Given the description of an element on the screen output the (x, y) to click on. 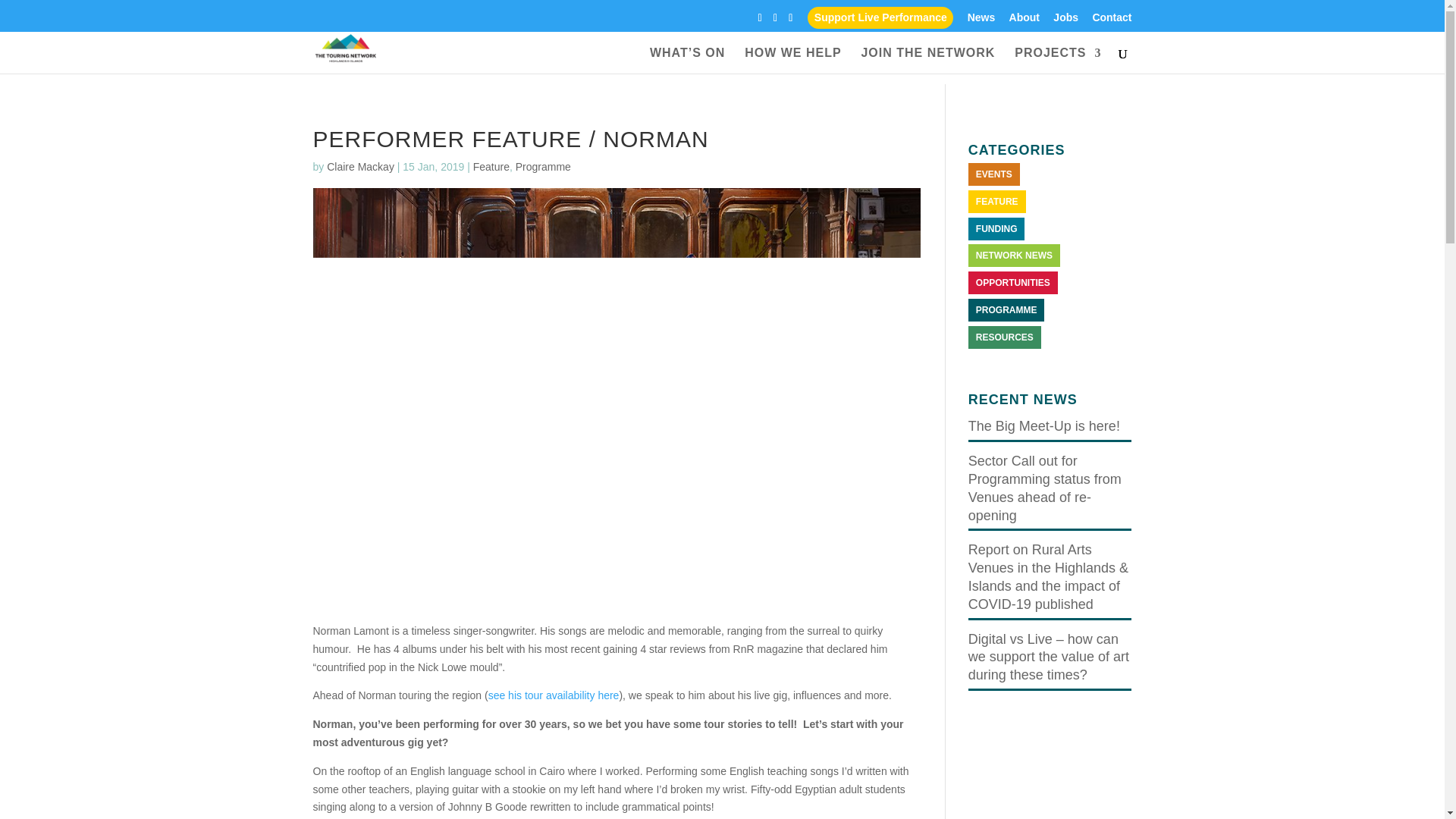
The Big Meet-Up is here! (1043, 426)
Support Live Performance (880, 17)
HOW WE HELP (792, 56)
About (1024, 21)
Programme (542, 166)
PROJECTS (1057, 56)
FUNDING (996, 228)
FEATURE (997, 201)
see his tour availability here (553, 695)
